Given the description of an element on the screen output the (x, y) to click on. 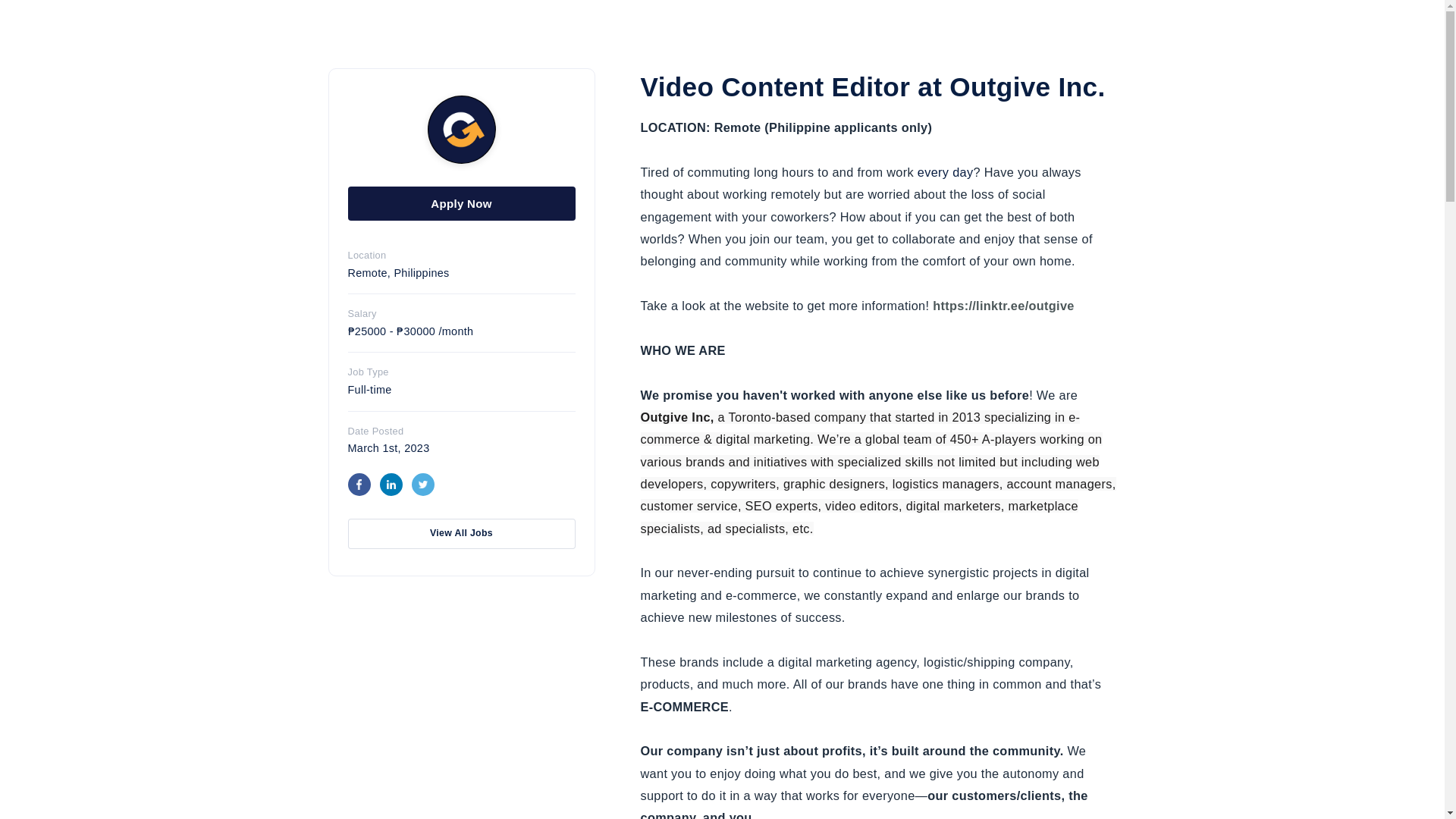
View All Jobs (461, 533)
